Given the description of an element on the screen output the (x, y) to click on. 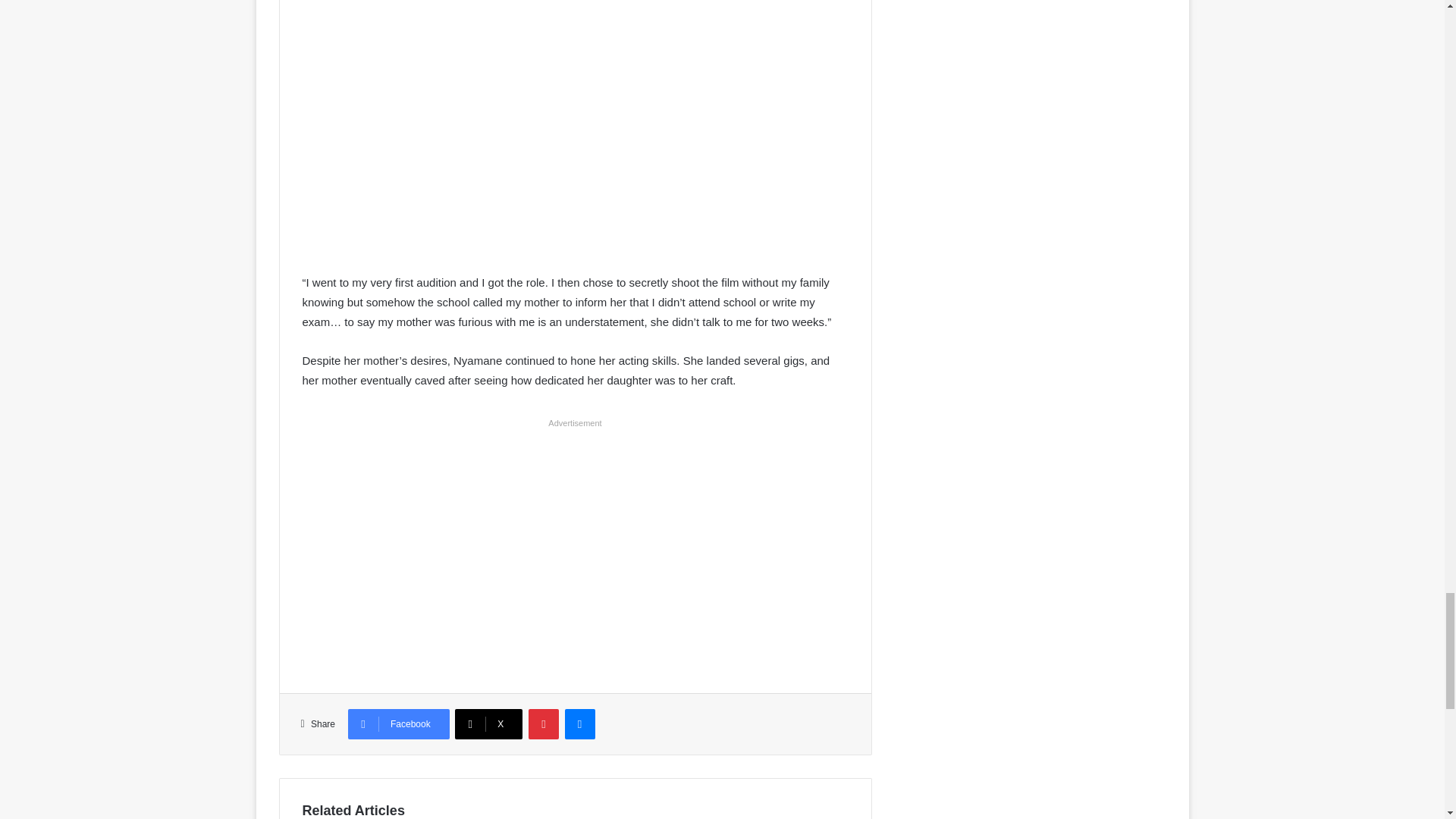
Pinterest (543, 724)
Pinterest (543, 724)
Facebook (398, 724)
Facebook (398, 724)
X (488, 724)
Messenger (579, 724)
X (488, 724)
